Given the description of an element on the screen output the (x, y) to click on. 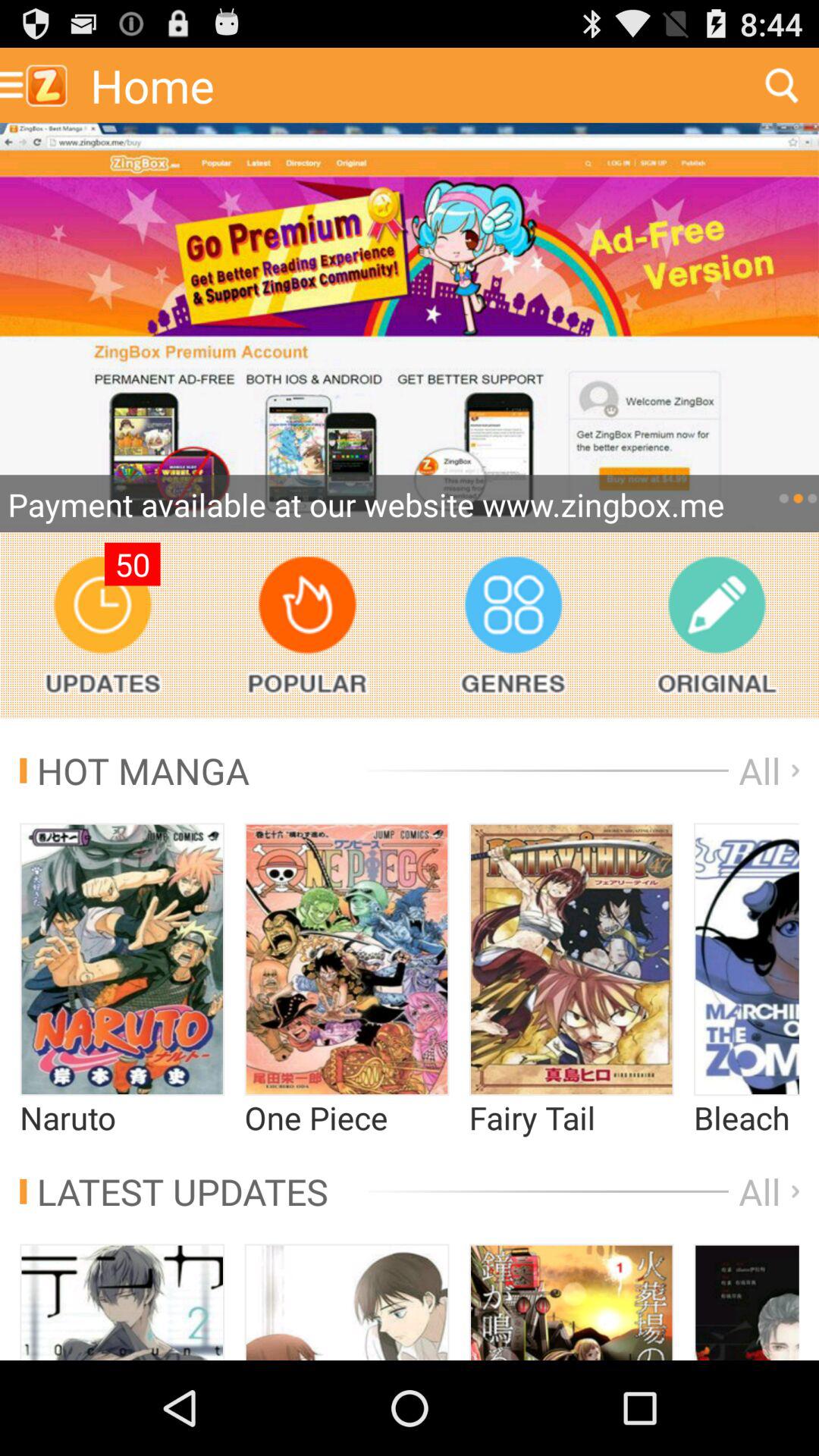
press latest updates icon (173, 1191)
